Given the description of an element on the screen output the (x, y) to click on. 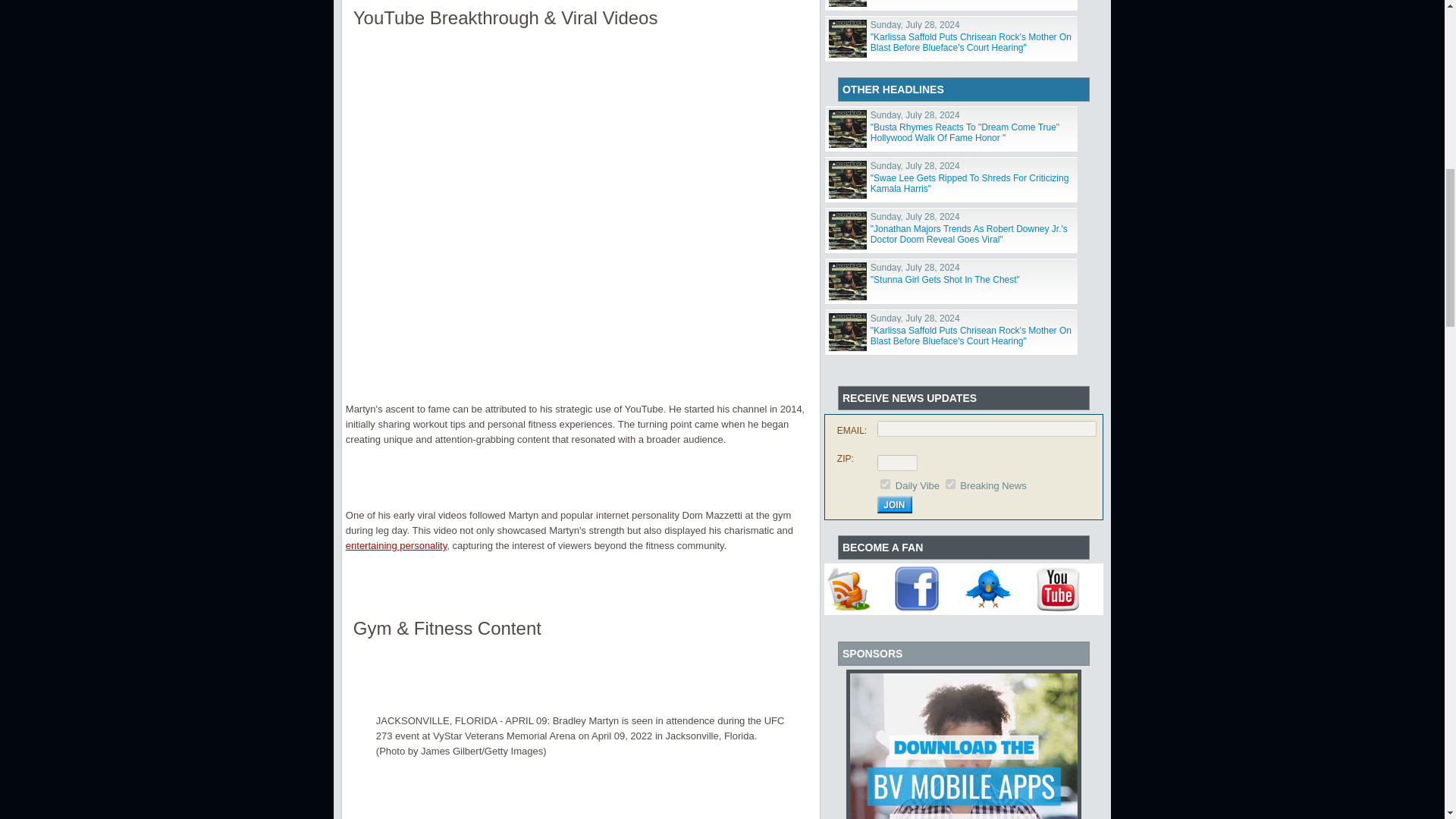
2 (949, 483)
1 (884, 483)
entertaining personality (396, 545)
